Given the description of an element on the screen output the (x, y) to click on. 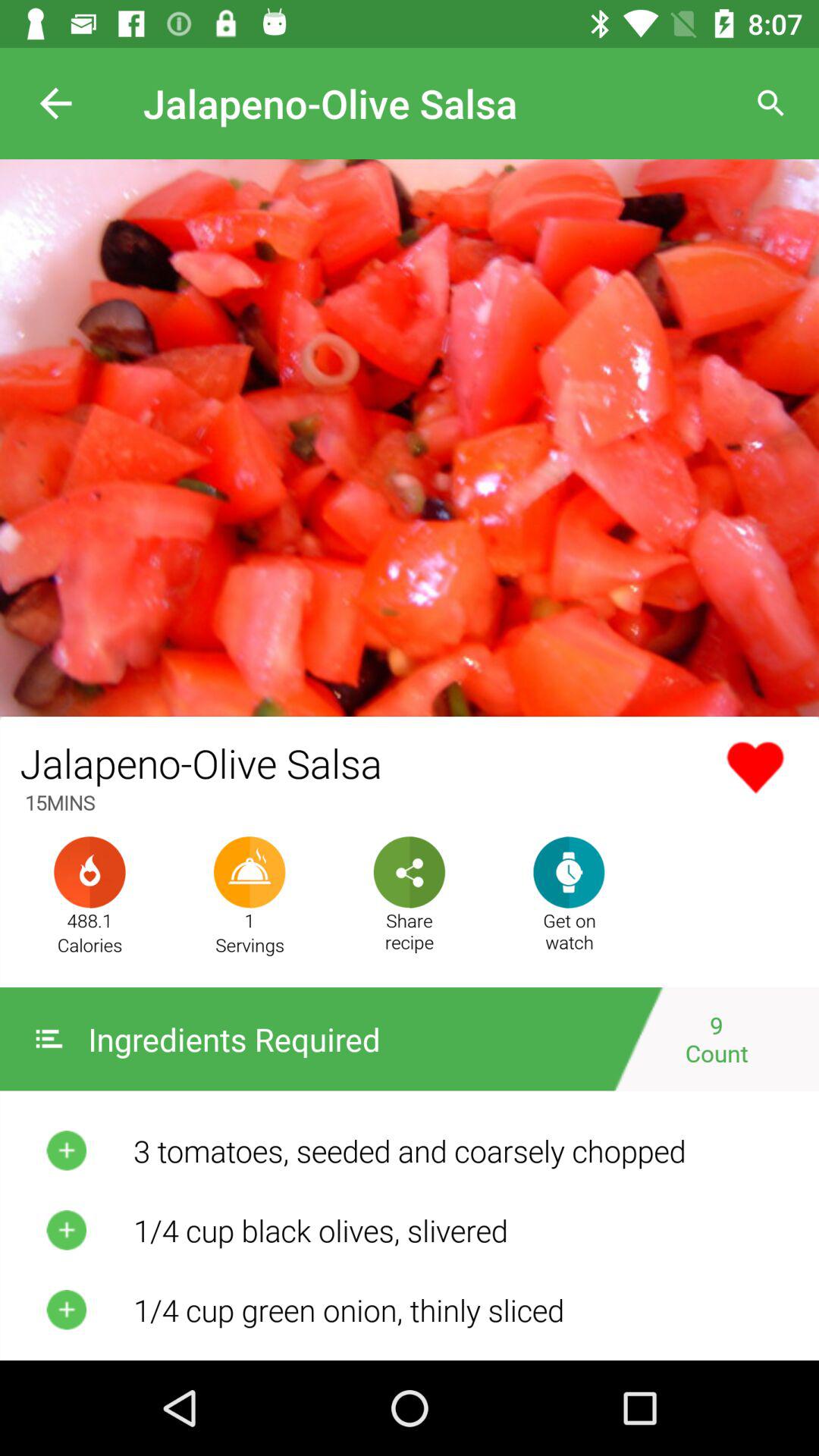
click on search icon (771, 103)
